Given the description of an element on the screen output the (x, y) to click on. 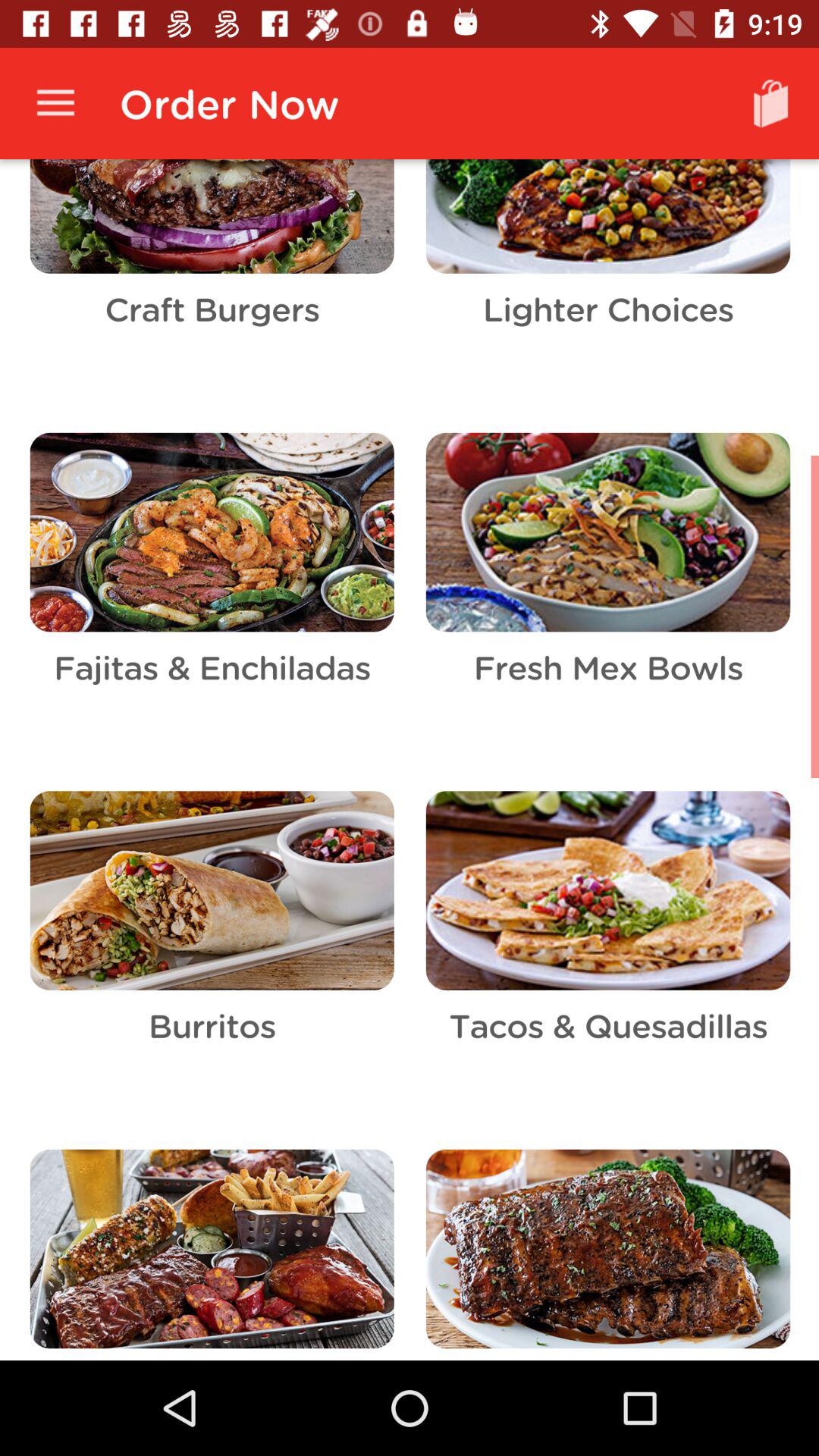
food menu (409, 759)
